Given the description of an element on the screen output the (x, y) to click on. 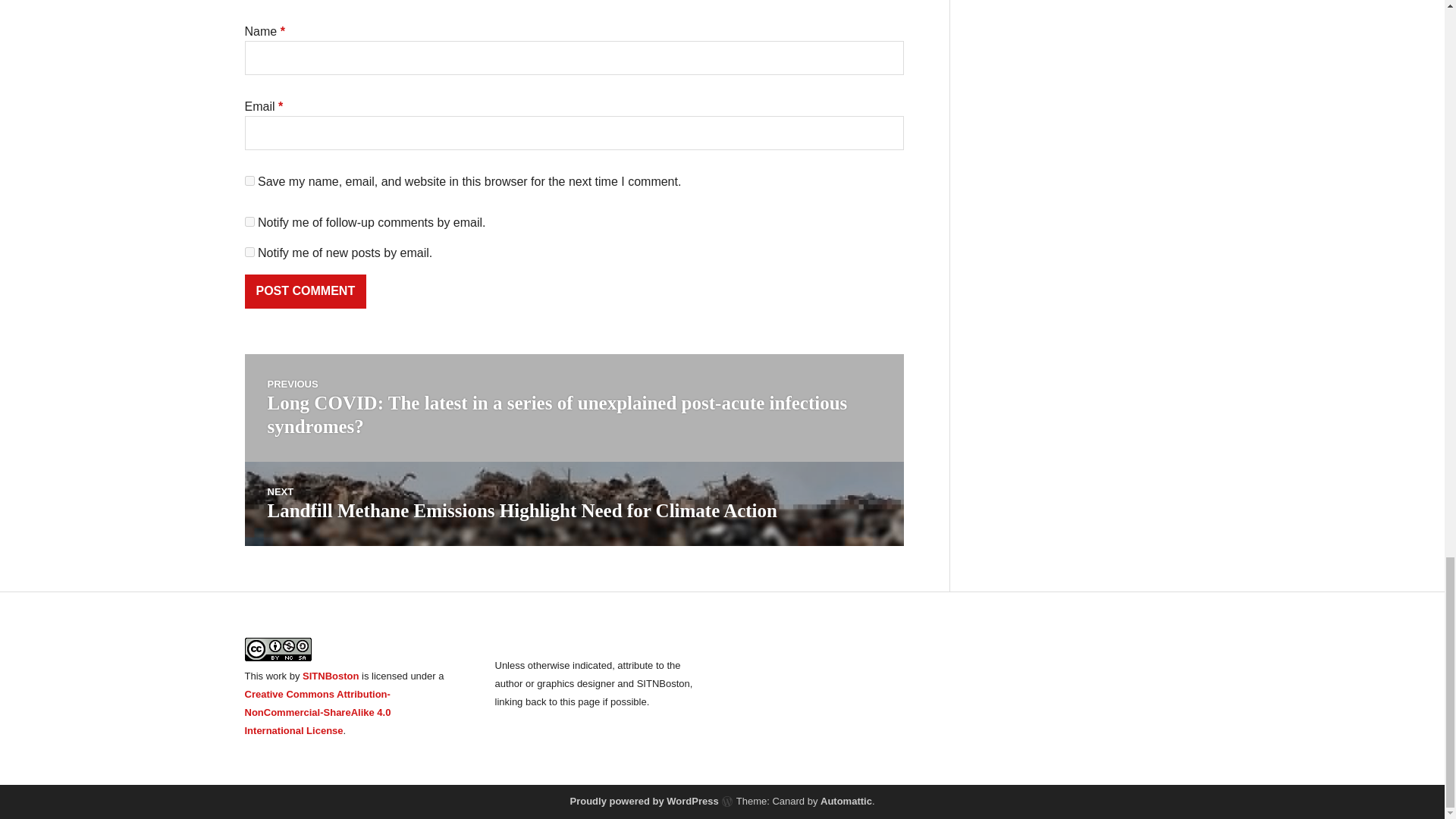
subscribe (248, 221)
subscribe (248, 252)
yes (248, 180)
Post Comment (305, 291)
